Given the description of an element on the screen output the (x, y) to click on. 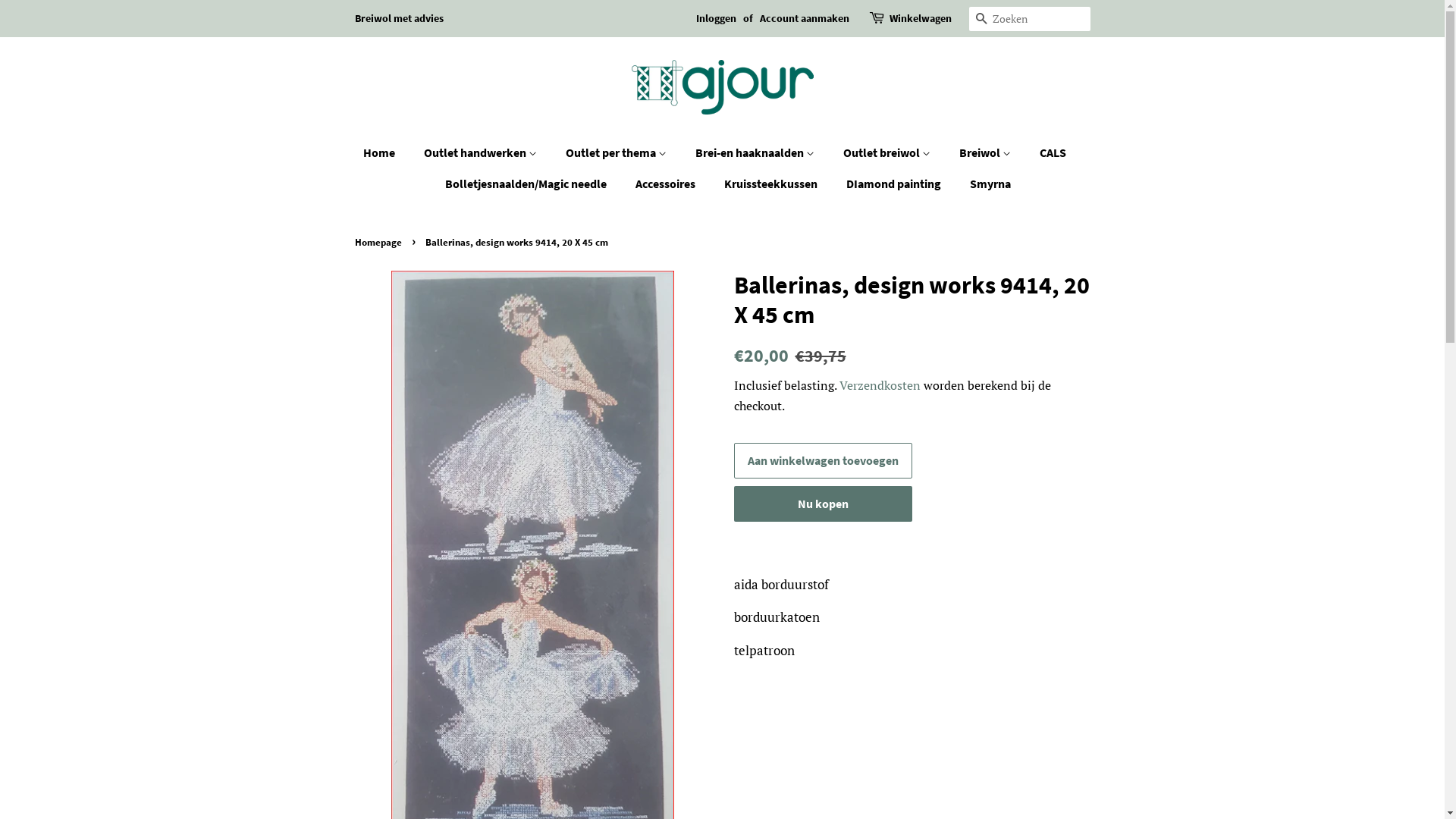
Brei-en haaknaalden Element type: text (756, 152)
CALS Element type: text (1054, 152)
Outlet per thema Element type: text (617, 152)
Inloggen Element type: text (716, 18)
Nu kopen Element type: text (823, 503)
Outlet breiwol Element type: text (888, 152)
Winkelwagen Element type: text (919, 18)
DIamond painting Element type: text (895, 183)
Homepage Element type: text (379, 241)
Outlet handwerken Element type: text (482, 152)
Breiwol Element type: text (986, 152)
Accessoires Element type: text (667, 183)
Smyrna Element type: text (984, 183)
Aan winkelwagen toevoegen Element type: text (823, 460)
Zoeken Element type: text (981, 18)
Home Element type: text (386, 152)
Account aanmaken Element type: text (804, 18)
Verzendkosten Element type: text (878, 384)
Kruissteekkussen Element type: text (772, 183)
Bolletjesnaalden/Magic needle Element type: text (527, 183)
